Given the description of an element on the screen output the (x, y) to click on. 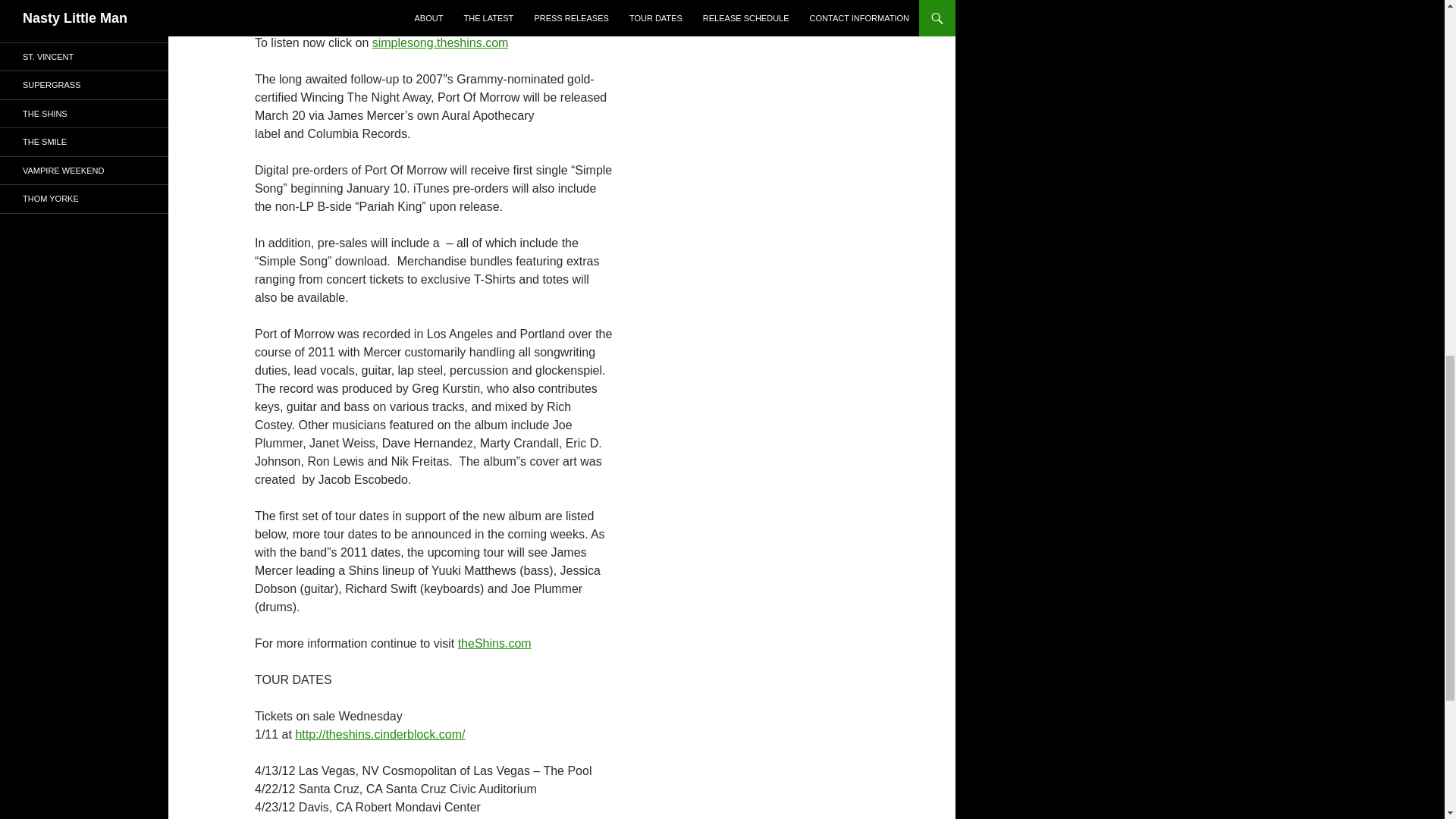
theShins.com (494, 643)
TheShins.com (569, 24)
simplesong.theshins.com (440, 42)
